Given the description of an element on the screen output the (x, y) to click on. 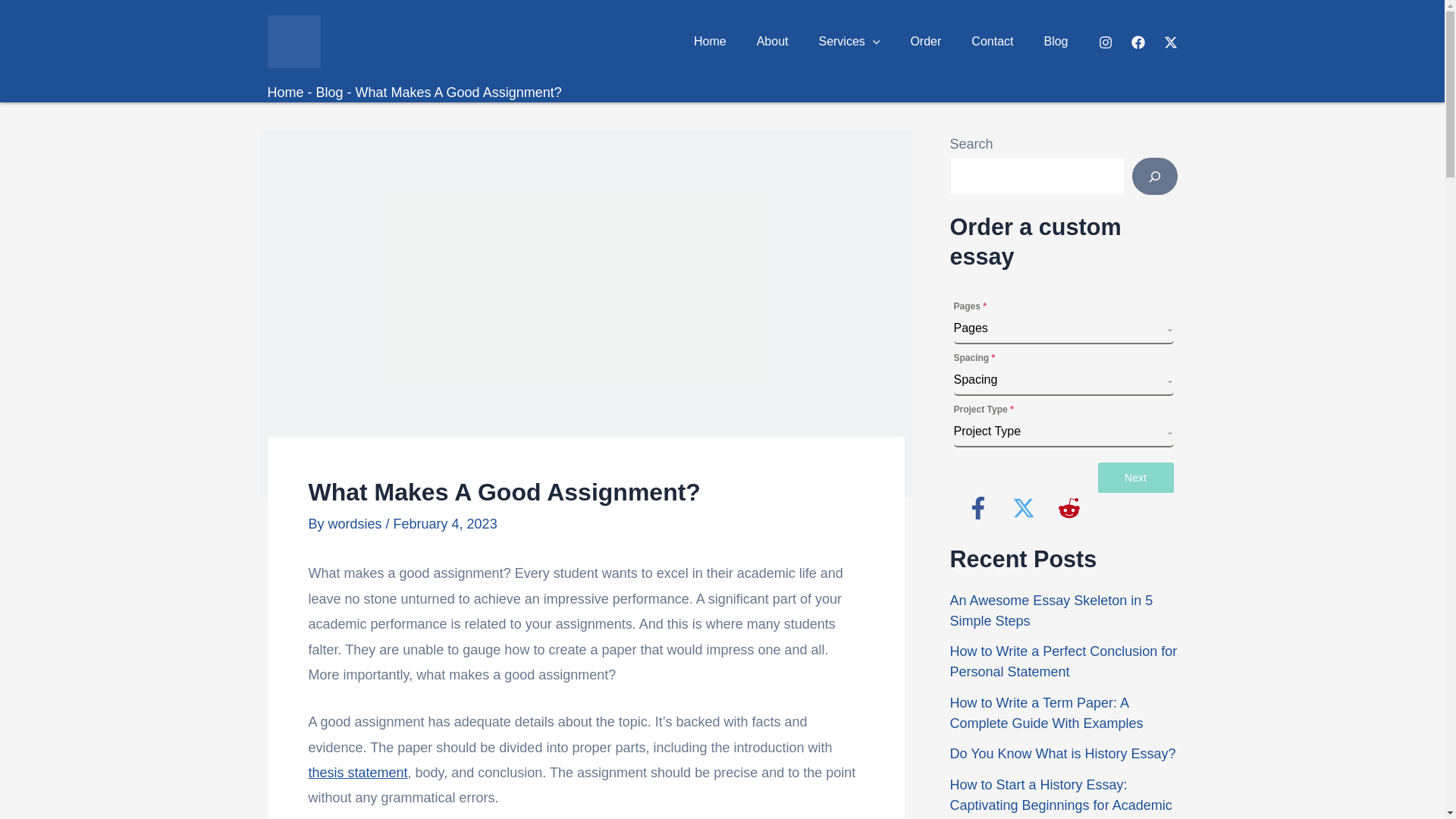
Project Type (1059, 430)
About (772, 41)
Services (849, 41)
wordsies (357, 523)
Order (925, 41)
Spacing (1059, 379)
Home (709, 41)
thesis statement (357, 772)
Blog (1055, 41)
Contact (991, 41)
